Given the description of an element on the screen output the (x, y) to click on. 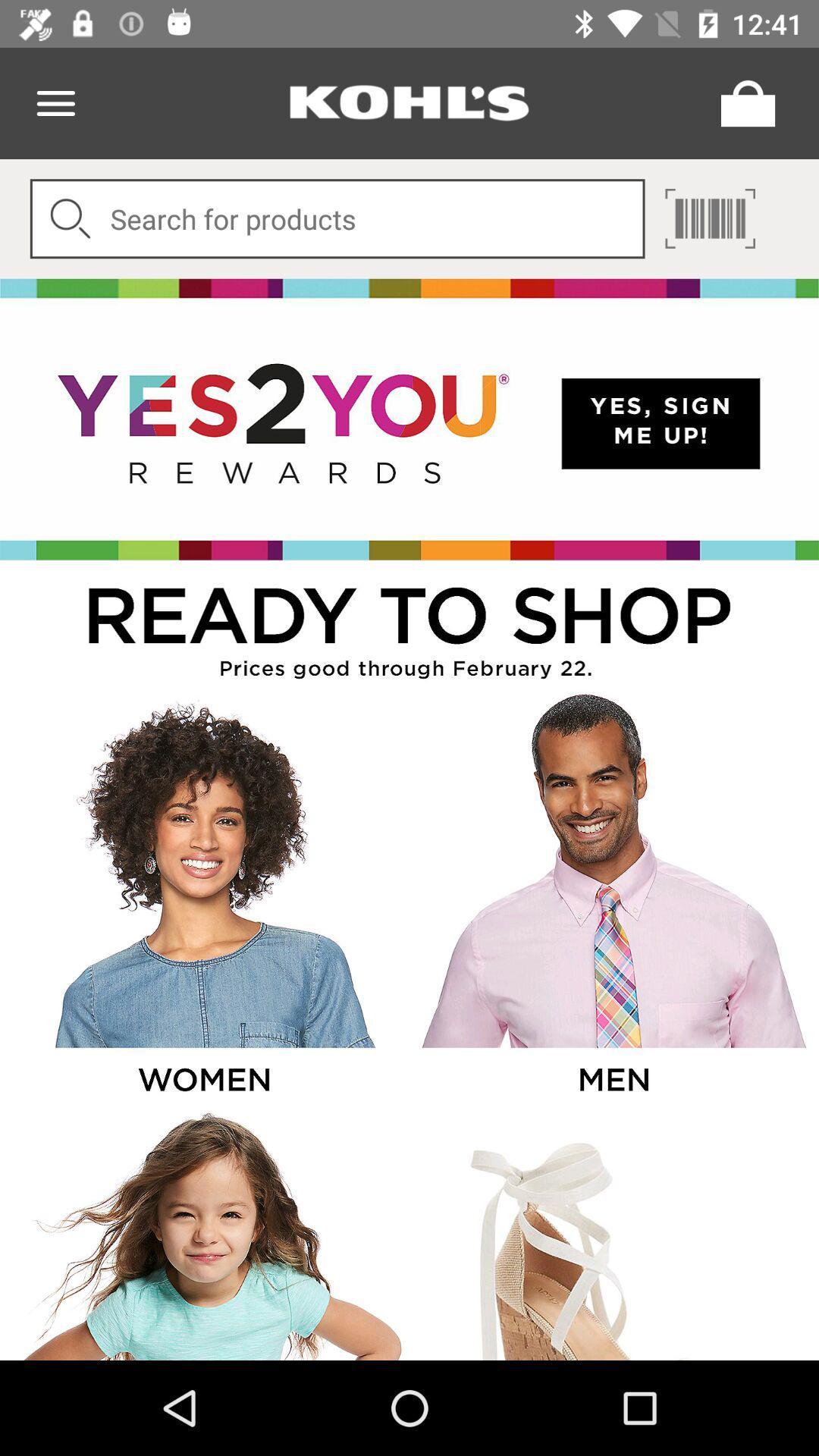
go to sign up page (409, 419)
